Given the description of an element on the screen output the (x, y) to click on. 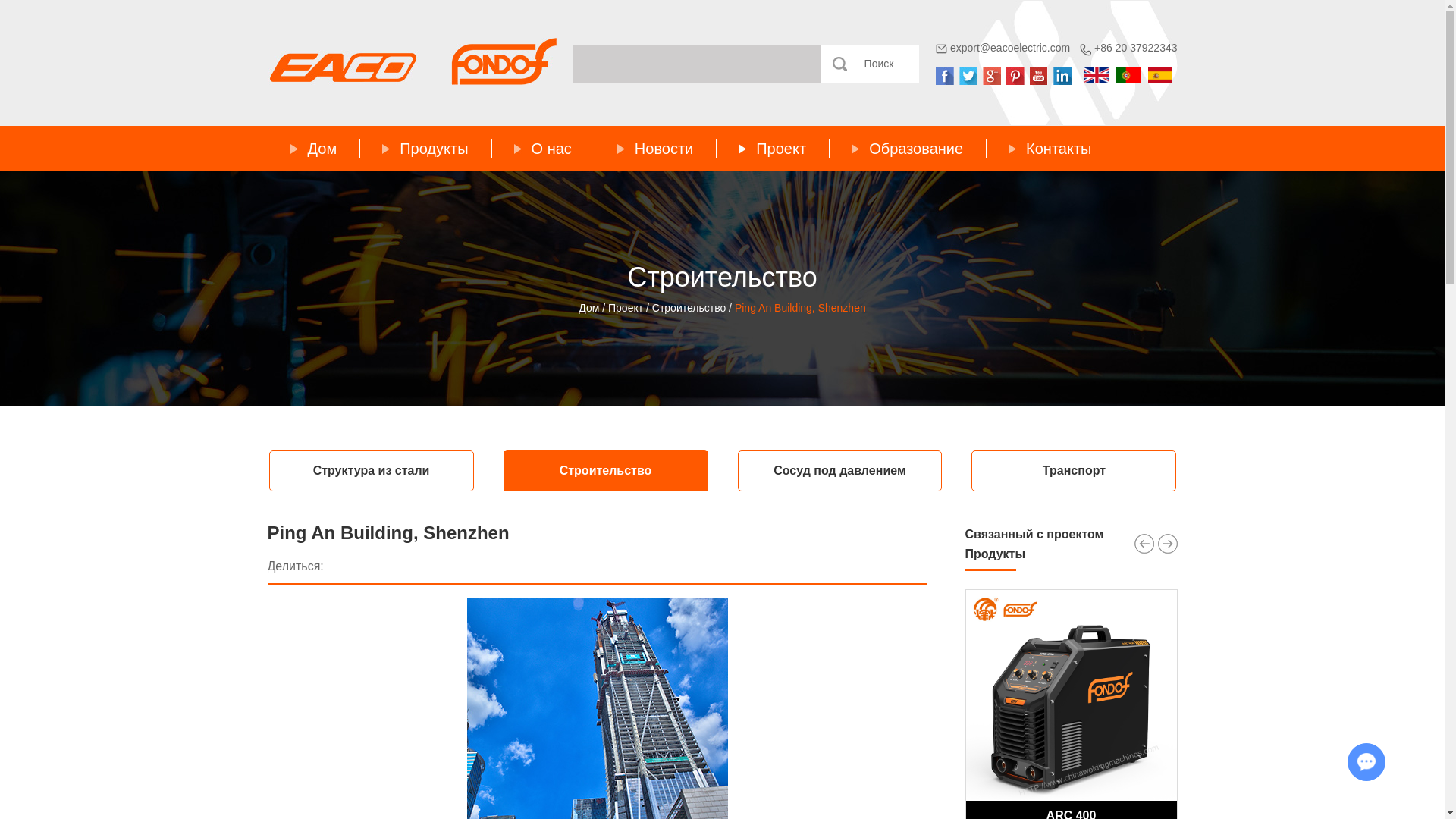
Guangzhou EACO electric equipments Co., Ltd. (411, 61)
